Given the description of an element on the screen output the (x, y) to click on. 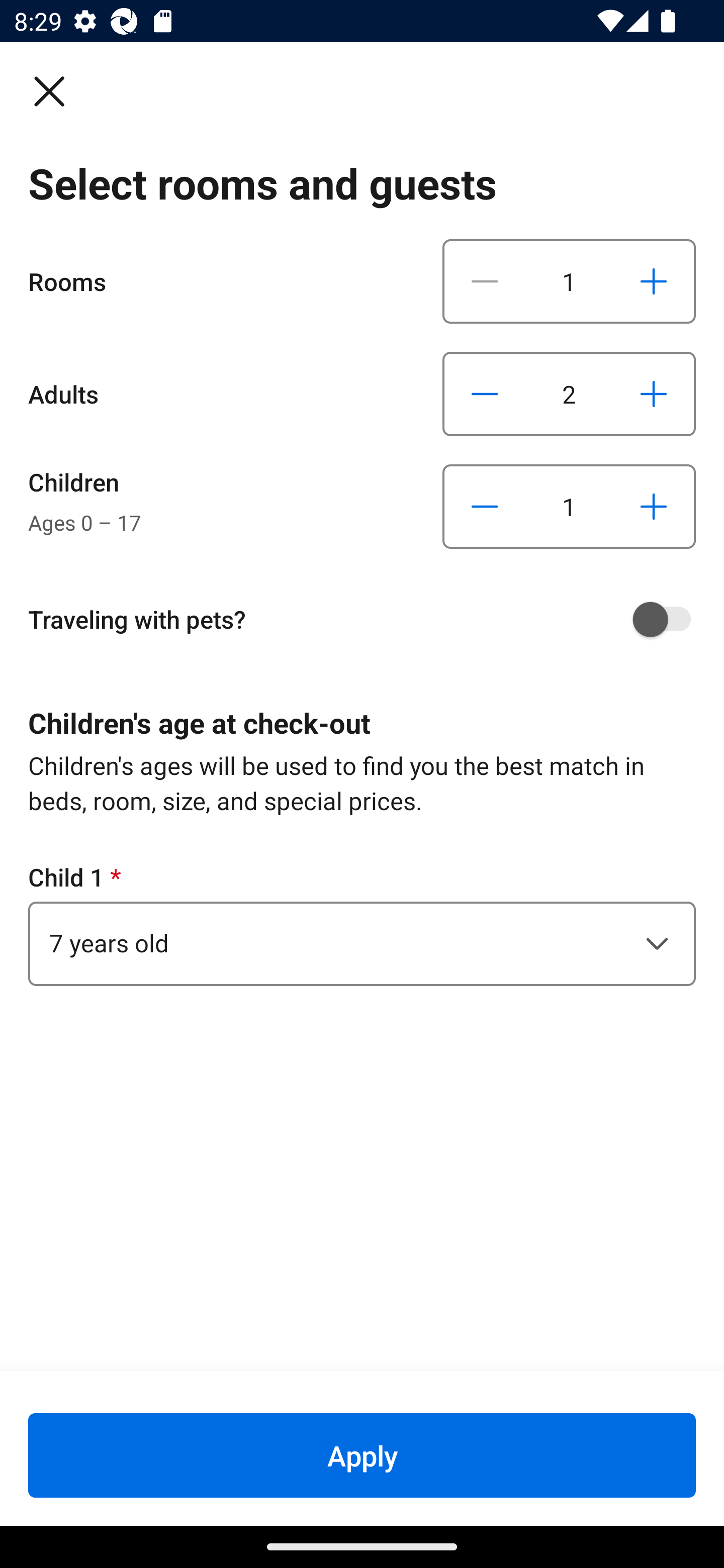
Decrease (484, 281)
Increase (653, 281)
Decrease (484, 393)
Increase (653, 393)
Decrease (484, 506)
Increase (653, 506)
Traveling with pets? (369, 619)
Child 1
required Child 1 * 7 years old (361, 922)
Apply (361, 1454)
